Given the description of an element on the screen output the (x, y) to click on. 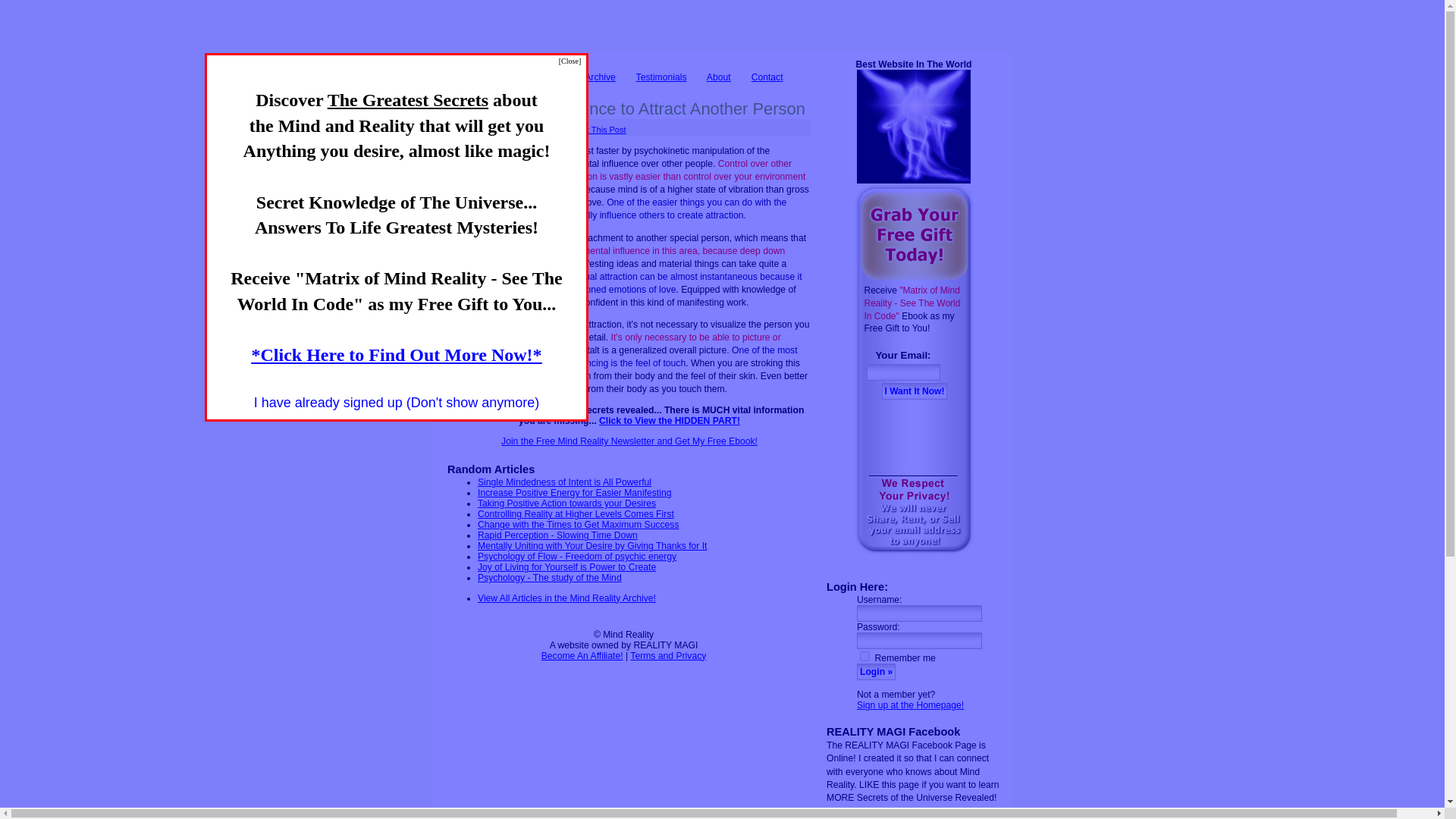
Taking Positive Action towards your Desires (566, 502)
Rapid Perception - Slowing Time Down (557, 534)
Controlling Reality at Higher Levels Comes First (575, 513)
Click to View the HIDDEN PART! (668, 420)
Change with the Times to Get Maximum Success (578, 524)
Search (549, 77)
Contact (767, 77)
Sign up at the Homepage! (910, 705)
Psychology of Flow - Freedom of psychic energy (577, 556)
Become An Affiliate! (582, 655)
Mentally Uniting with Your Desire by Giving Thanks for It (591, 545)
Increase Positive Energy for Easier Manifesting (574, 492)
Using Mental Influence to Attract Another Person (625, 108)
Secrets of Mind and Reality - MindReality.com (659, 36)
Psychology - The study of the Mind (549, 577)
